Given the description of an element on the screen output the (x, y) to click on. 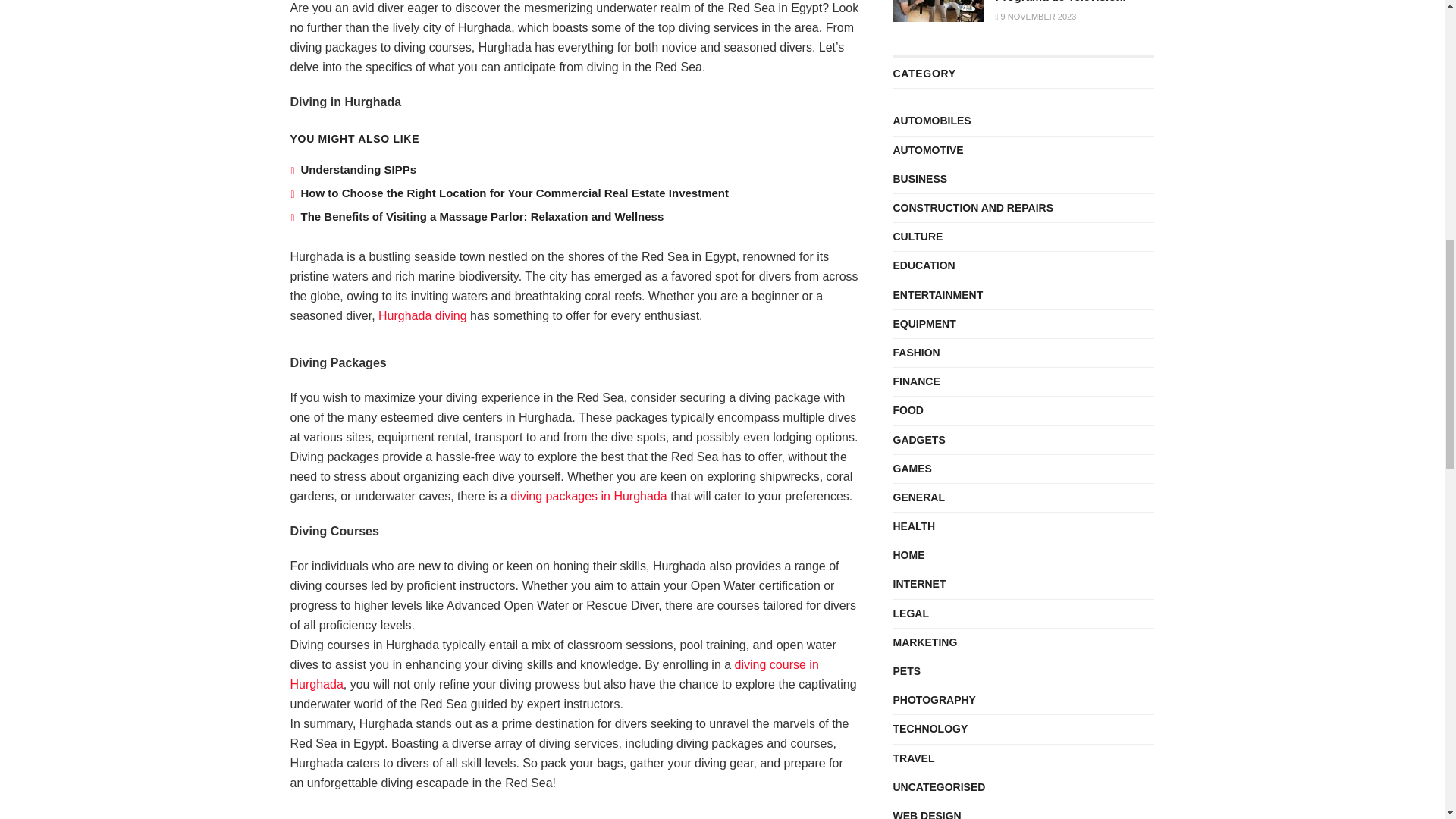
diving packages in Hurghada (588, 495)
Understanding SIPPs (357, 169)
diving course in Hurghada (553, 674)
Hurghada diving (422, 315)
